Given the description of an element on the screen output the (x, y) to click on. 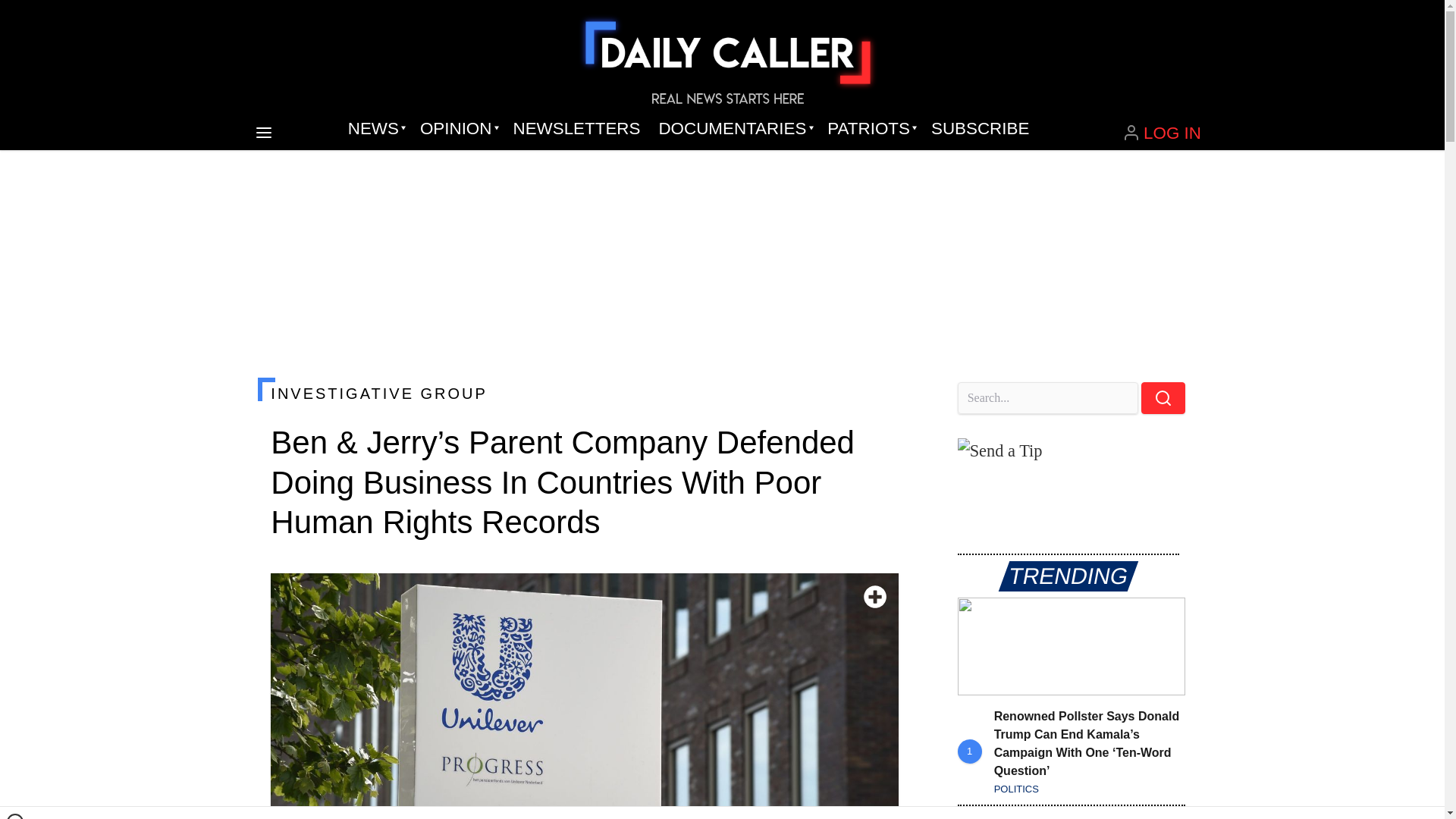
Close window (14, 816)
OPINION (456, 128)
DOCUMENTARIES (733, 128)
SUBSCRIBE (979, 128)
INVESTIGATIVE GROUP (584, 393)
PATRIOTS (869, 128)
Toggle fullscreen (874, 596)
NEWSLETTERS (576, 128)
NEWS (374, 128)
